Given the description of an element on the screen output the (x, y) to click on. 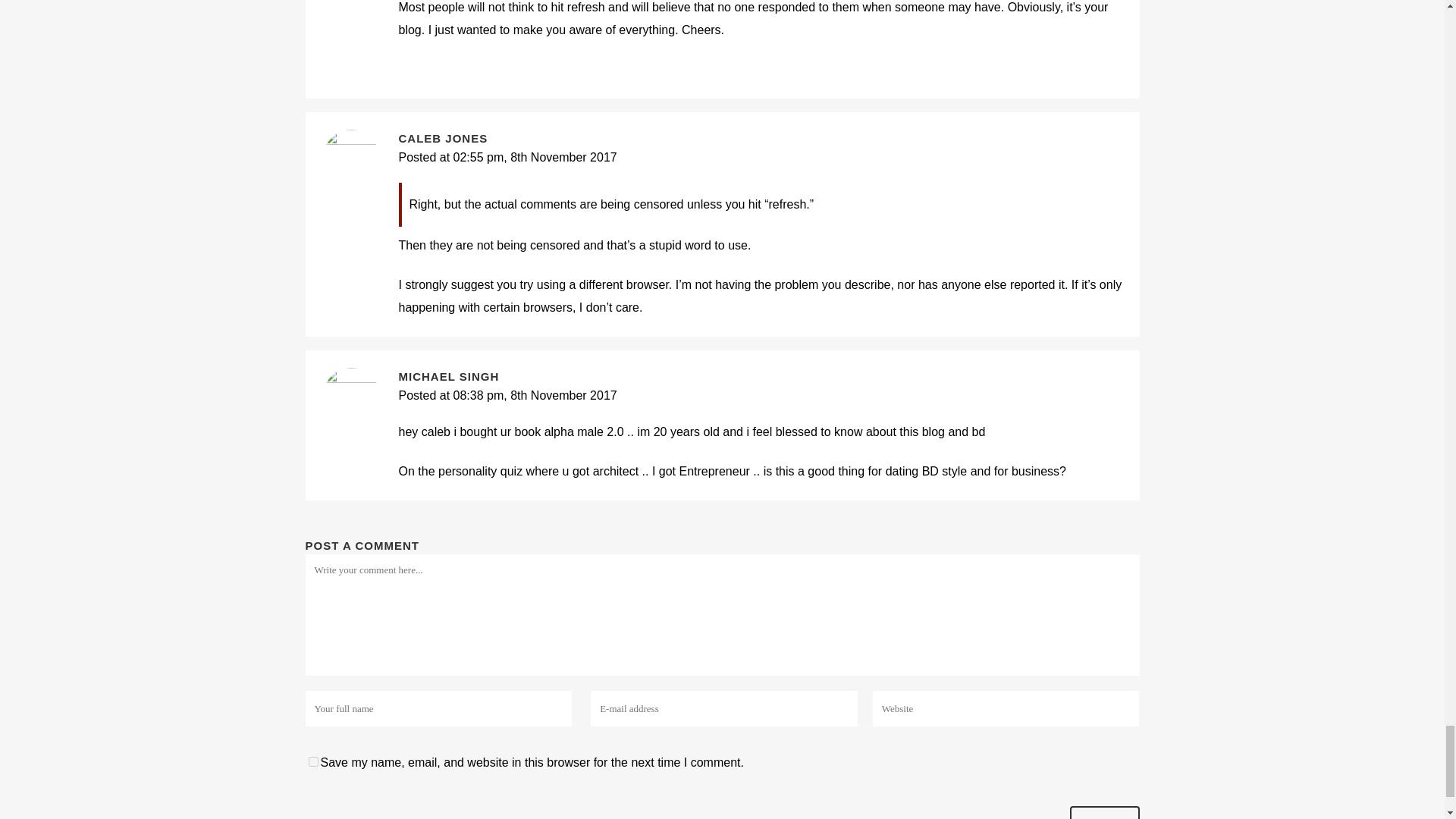
yes (312, 761)
Submit (1103, 812)
Submit (1103, 812)
Please wait until Google reCAPTCHA is loaded. (1103, 812)
